Given the description of an element on the screen output the (x, y) to click on. 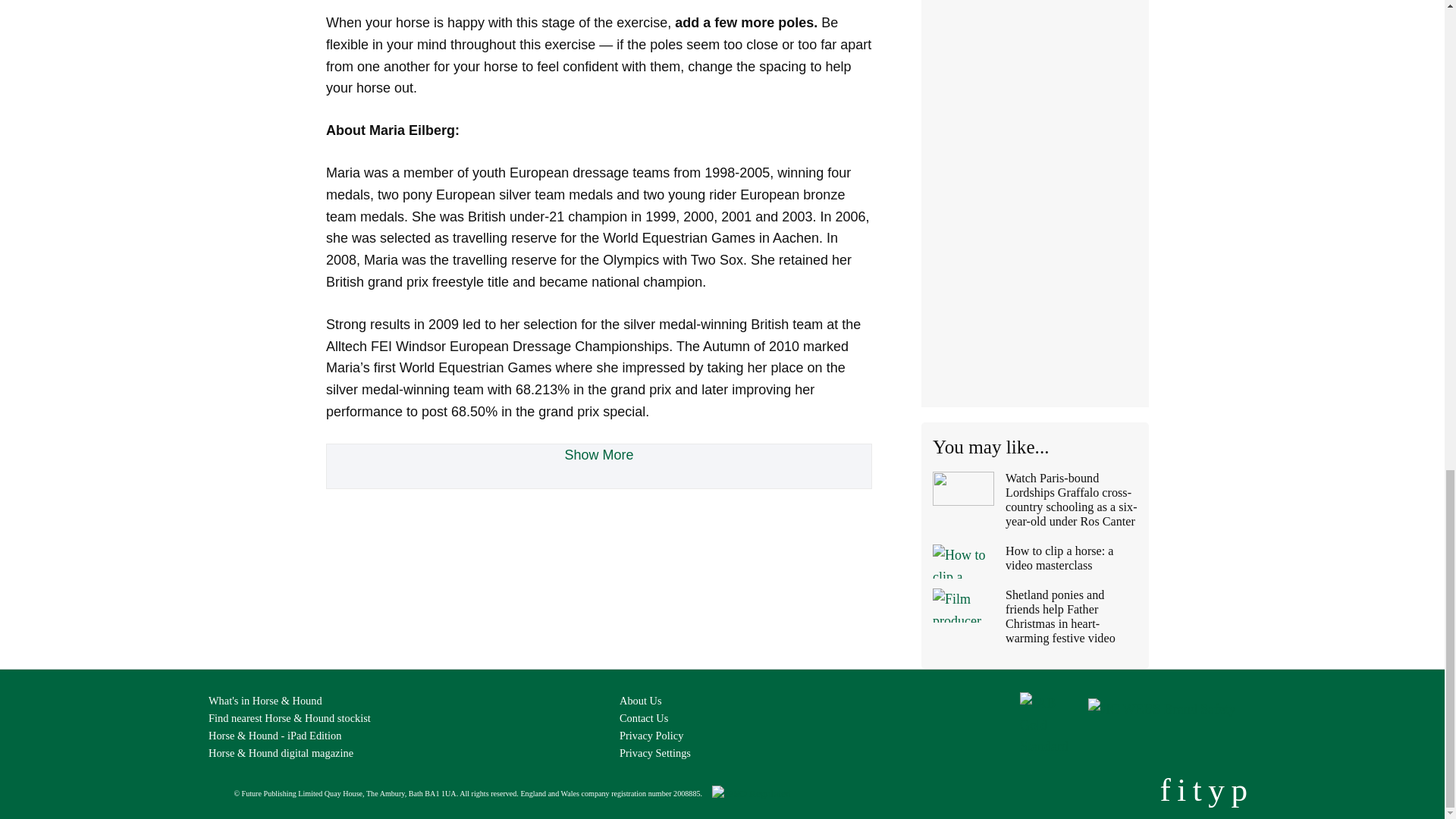
How to clip a horse: a video masterclass (1035, 564)
